Given the description of an element on the screen output the (x, y) to click on. 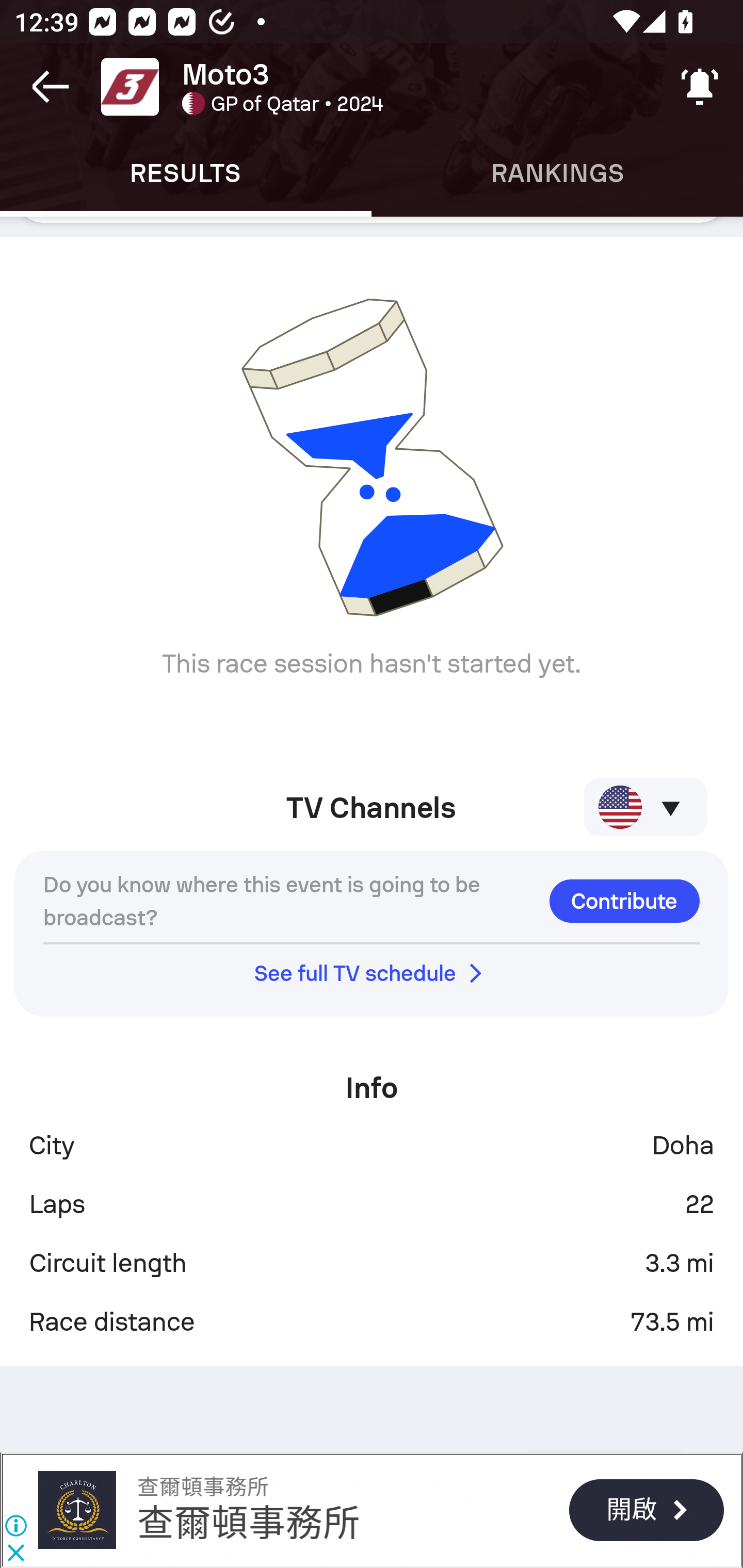
Navigate up (50, 86)
Rankings RANKINGS (557, 173)
Contribute (624, 900)
See full TV schedule (371, 972)
查爾頓事務所 (76, 1509)
查爾頓事務所 (201, 1486)
開啟 (645, 1509)
查爾頓事務所 (248, 1523)
